Given the description of an element on the screen output the (x, y) to click on. 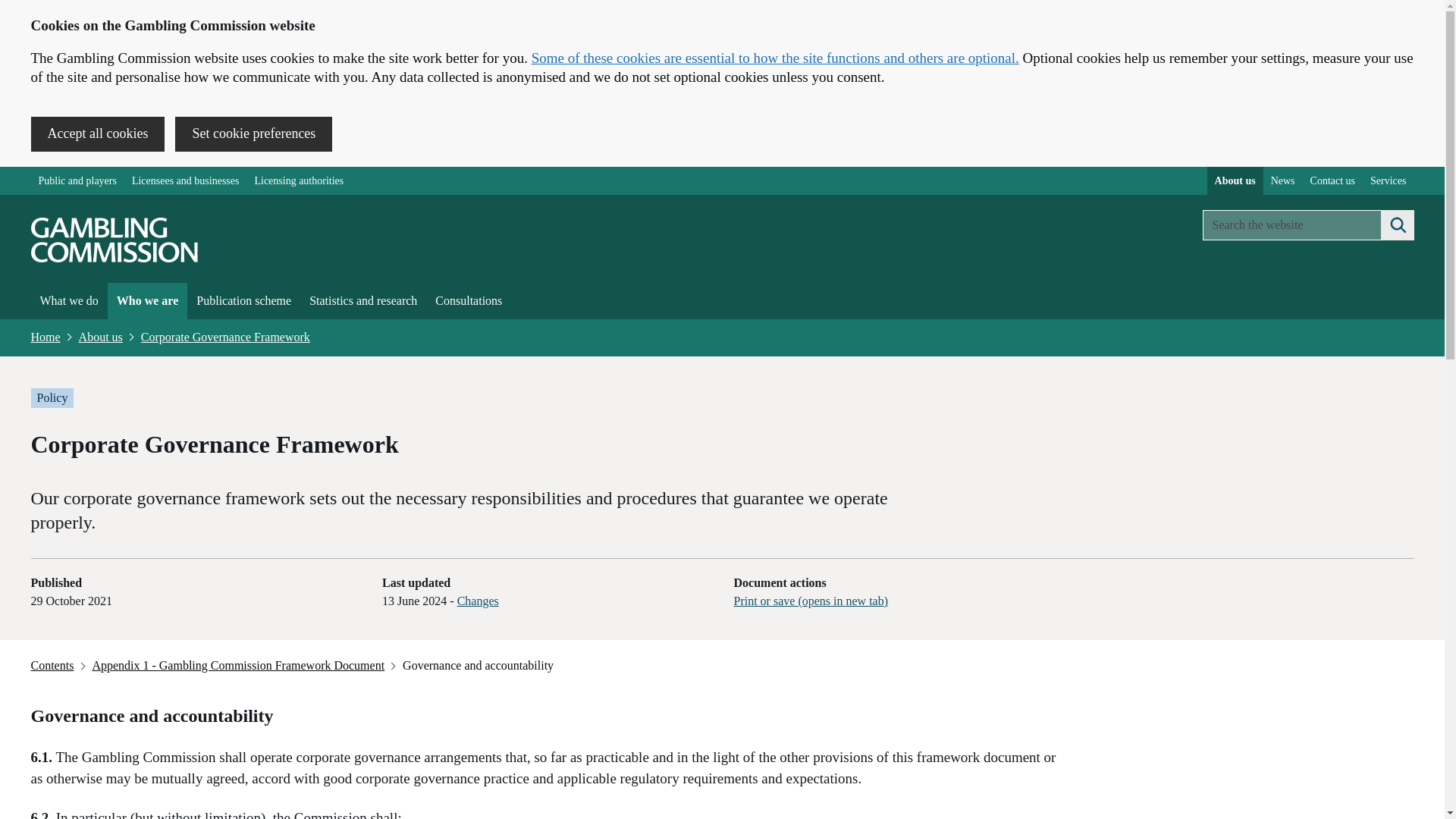
Who we are (147, 300)
What we do (68, 300)
Corporate Governance Framework (225, 337)
Consultations (468, 300)
Home (45, 337)
Public and players (76, 180)
News (1283, 180)
Accept all cookies (97, 134)
About us (101, 337)
Contents (53, 665)
Licensing authorities (298, 180)
Publication scheme (243, 300)
Statistics and research (362, 300)
Contact us (1332, 180)
